Given the description of an element on the screen output the (x, y) to click on. 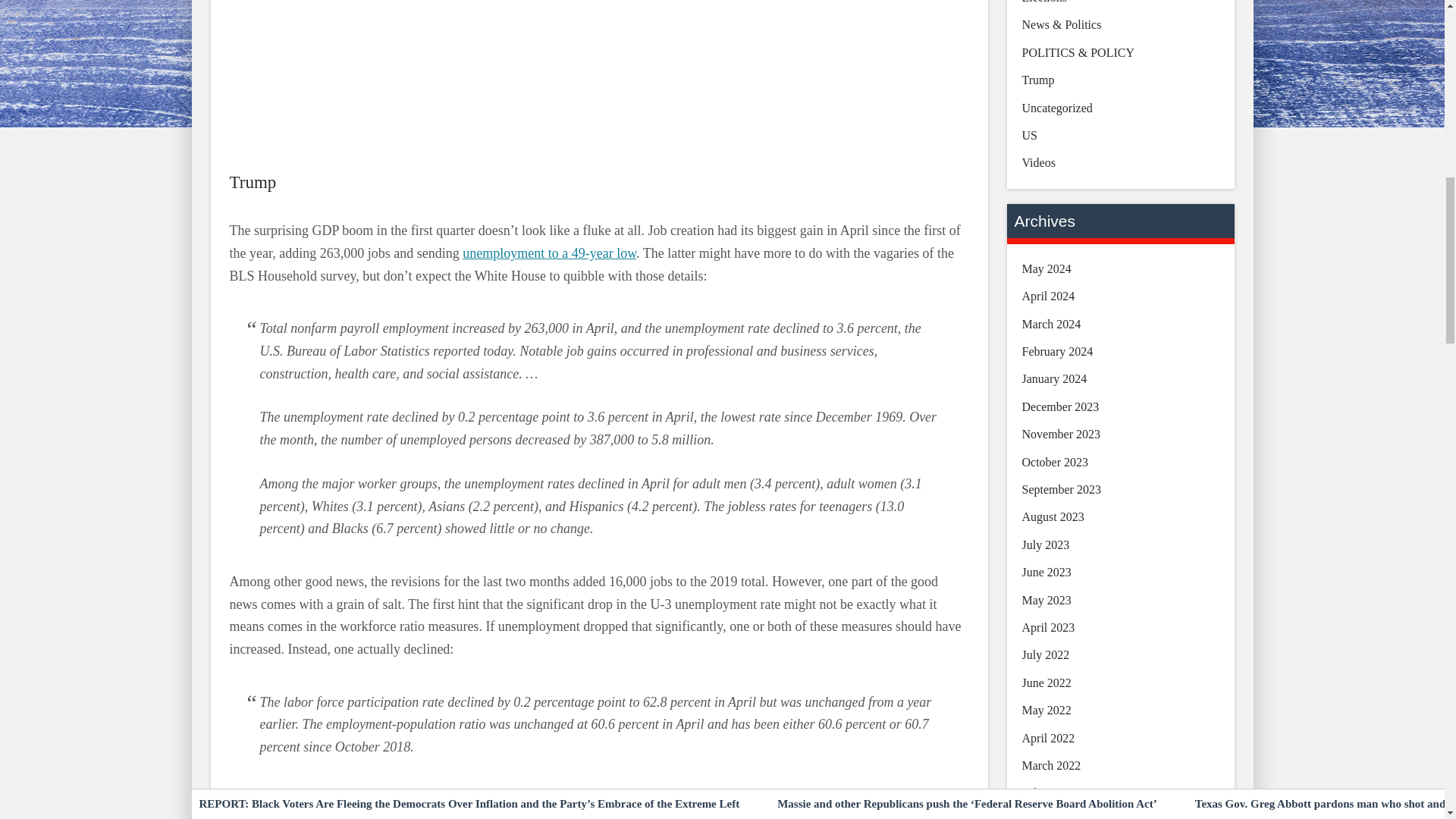
Trump (252, 181)
